Given the description of an element on the screen output the (x, y) to click on. 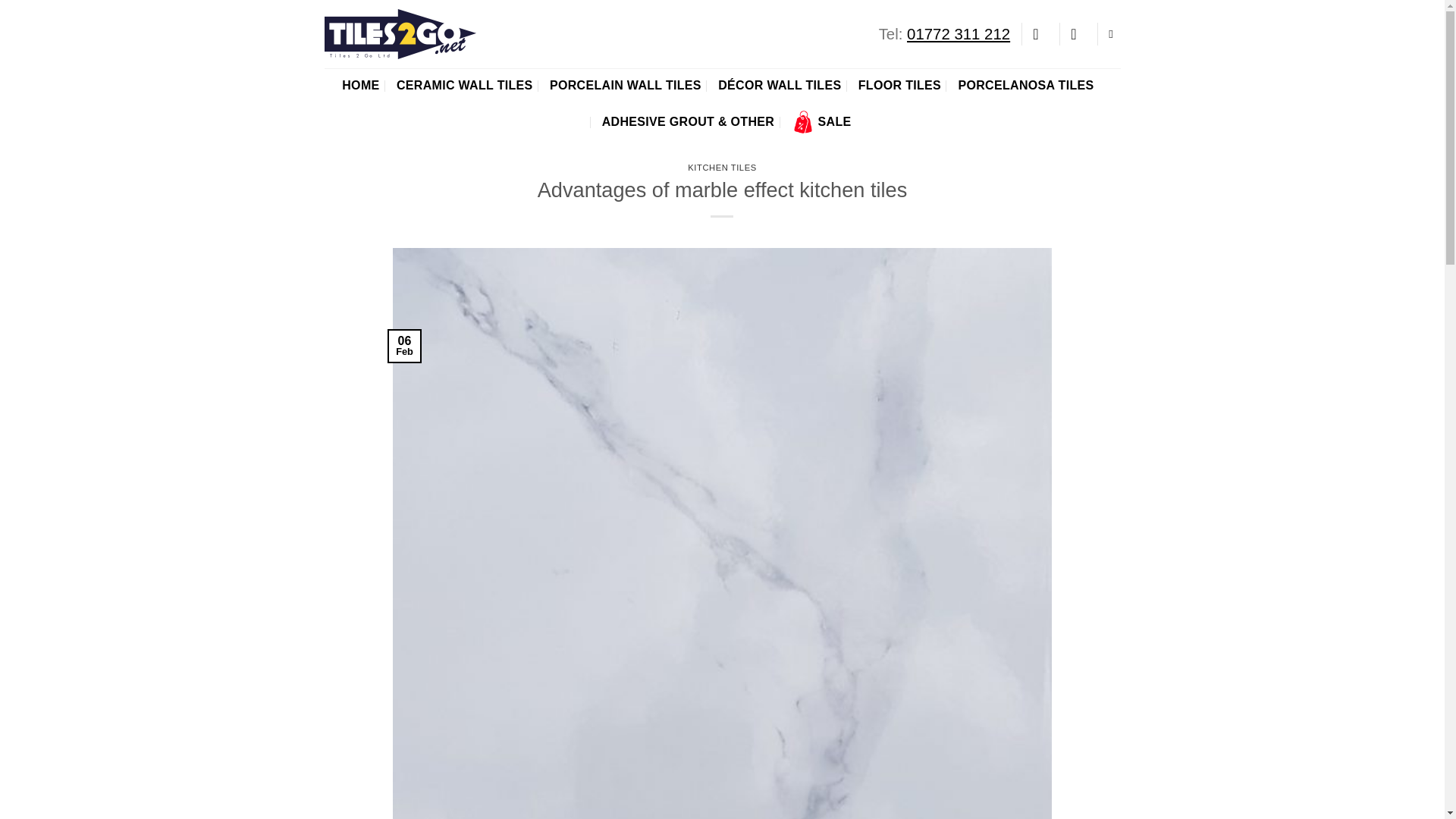
HOME (360, 85)
KITCHEN TILES (721, 166)
SALE (821, 121)
Tiles 2 Go Ltd - Buy all types of tiles online at Tiles 2 Go (400, 33)
Basket (1078, 33)
CERAMIC WALL TILES (464, 85)
PORCELANOSA TILES (1025, 85)
FLOOR TILES (899, 85)
PORCELAIN WALL TILES (625, 85)
01772 311 212 (958, 33)
